Given the description of an element on the screen output the (x, y) to click on. 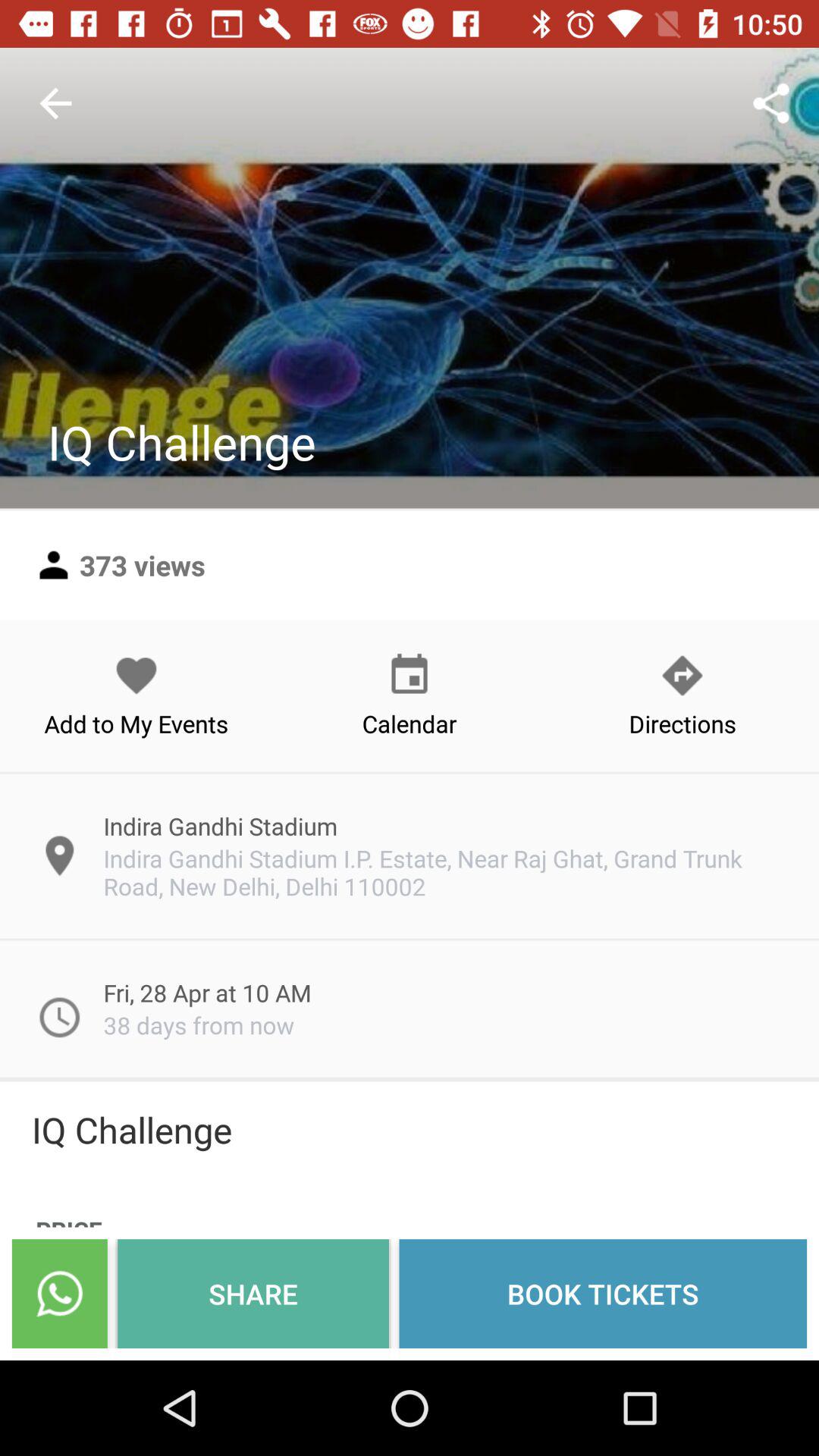
launch the item below iq challenge (603, 1293)
